Given the description of an element on the screen output the (x, y) to click on. 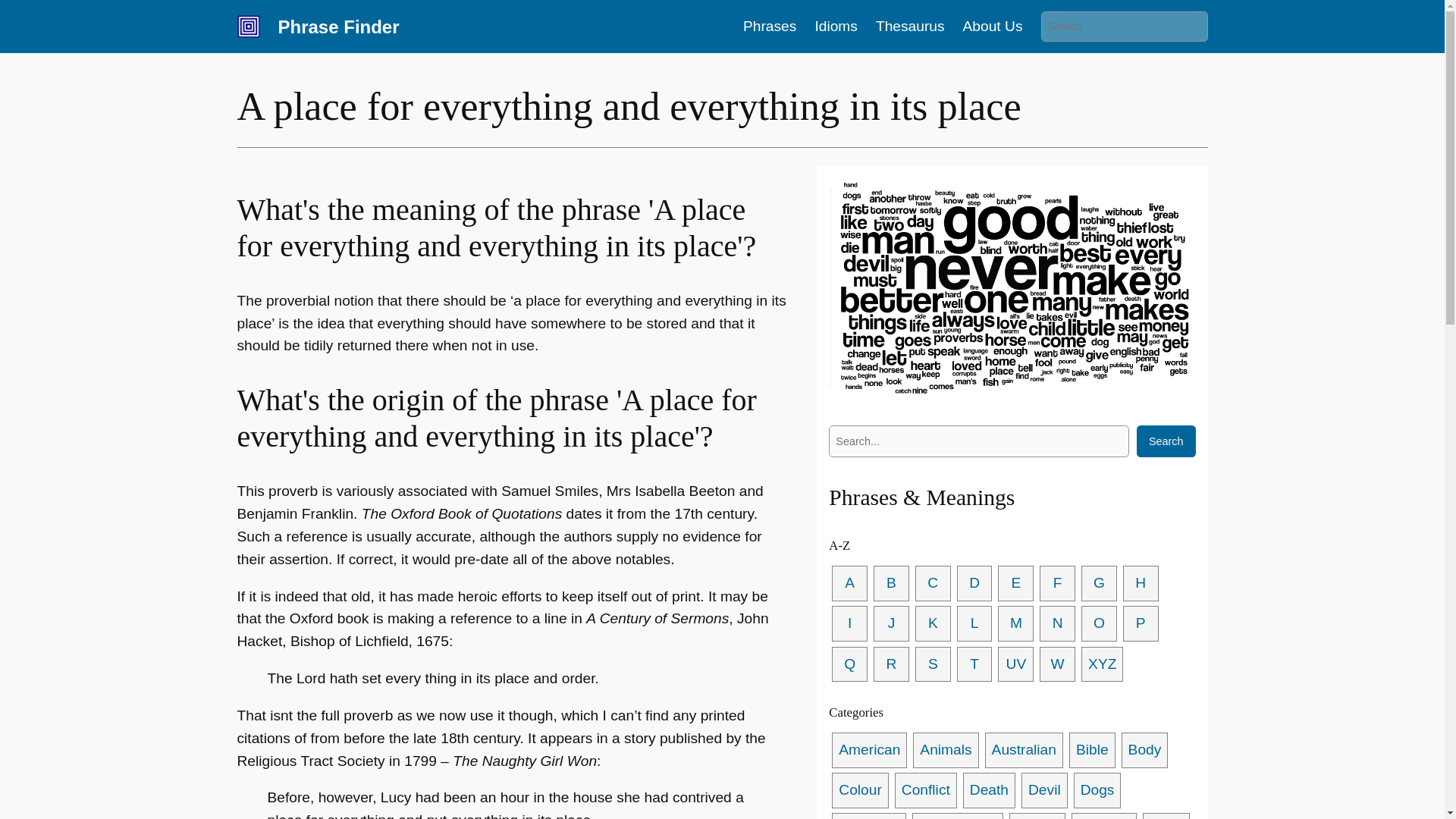
H (1140, 583)
D (974, 583)
N (1057, 623)
UV (1015, 664)
J (890, 623)
Q (849, 664)
A list of phrases to do with conflict and war (925, 790)
T (974, 664)
C (932, 583)
A list of phrases coined in America (869, 750)
L (974, 623)
G (1098, 583)
A list of phrases coined in Australia (1023, 750)
A list of phrases to do with colours (859, 790)
A list of phrases to do with the human body (1145, 750)
